Given the description of an element on the screen output the (x, y) to click on. 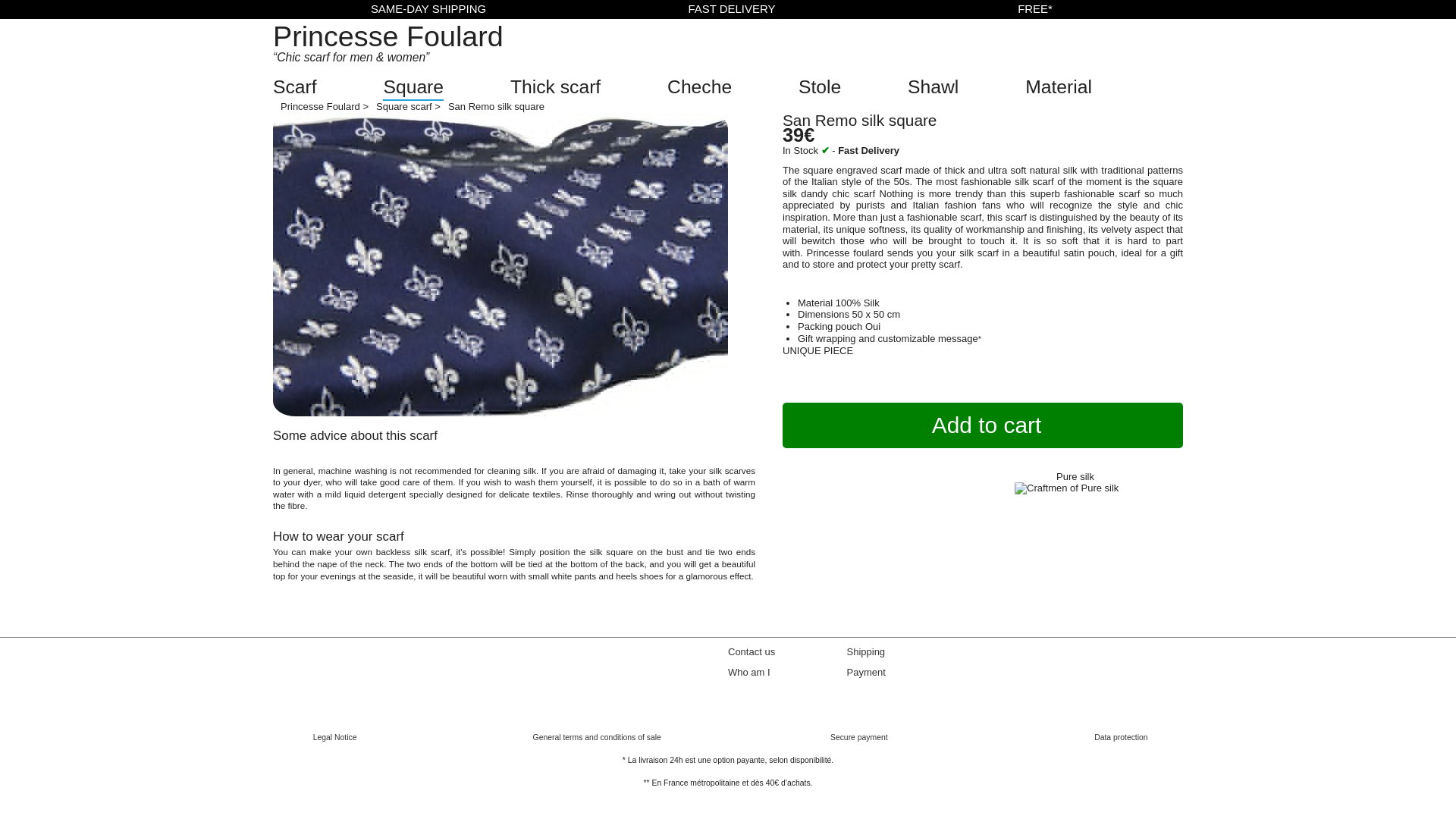
Contact us (751, 651)
Princesse Foulard (388, 36)
PrincesseFoulard.com sur twitter (1039, 708)
Payment (865, 672)
Cheche (699, 87)
General terms and conditions of sale (596, 737)
Material (1058, 87)
Shawl (932, 87)
Who am I (749, 672)
Square scarf (403, 106)
Legal Notice (334, 737)
Pure silk (1075, 476)
Foulard livraison 24h (865, 651)
Square silk scarf (403, 106)
